Given the description of an element on the screen output the (x, y) to click on. 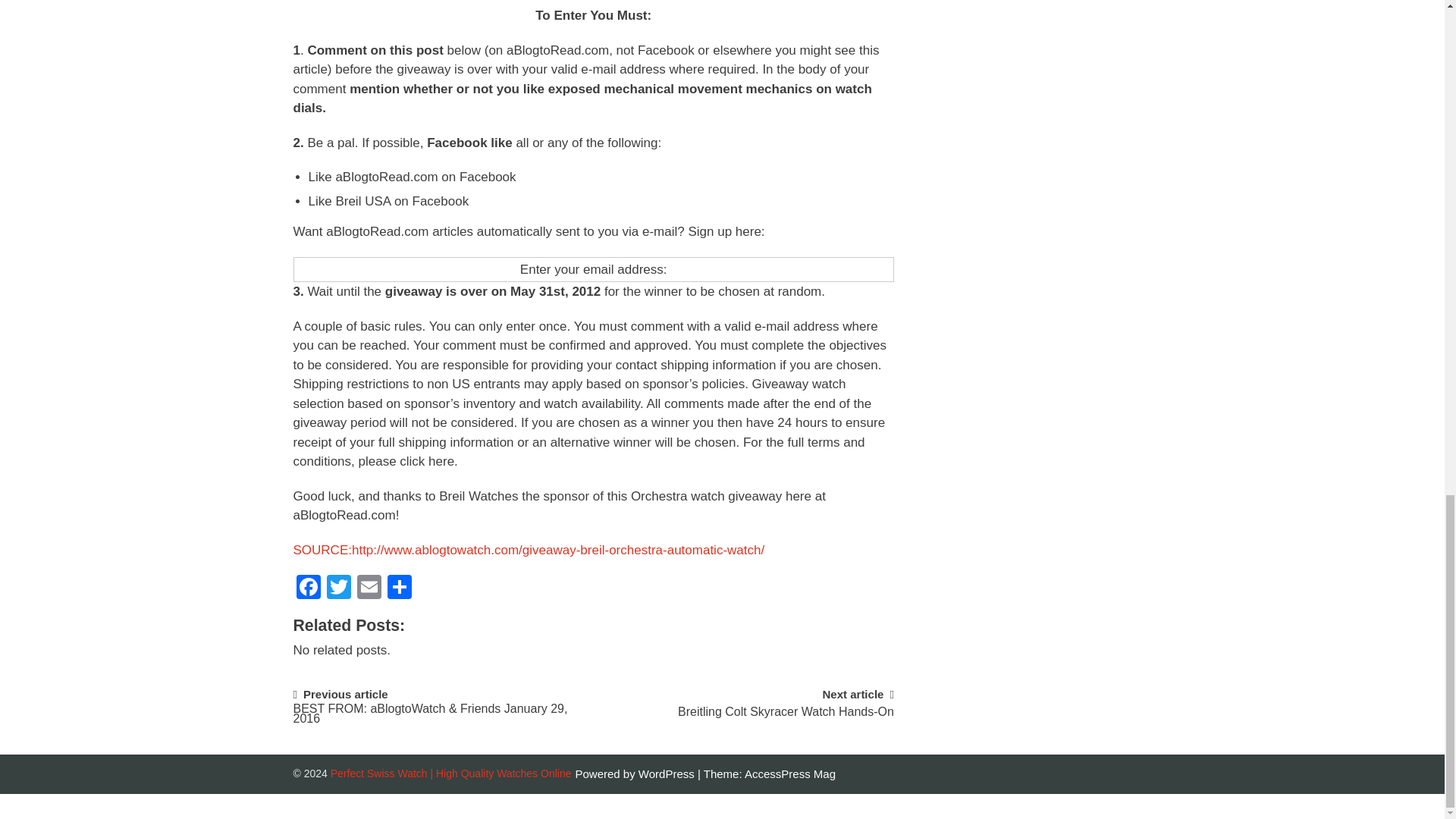
AccessPress Themes (789, 773)
Twitter (338, 588)
Facebook (307, 588)
Email (368, 588)
